Given the description of an element on the screen output the (x, y) to click on. 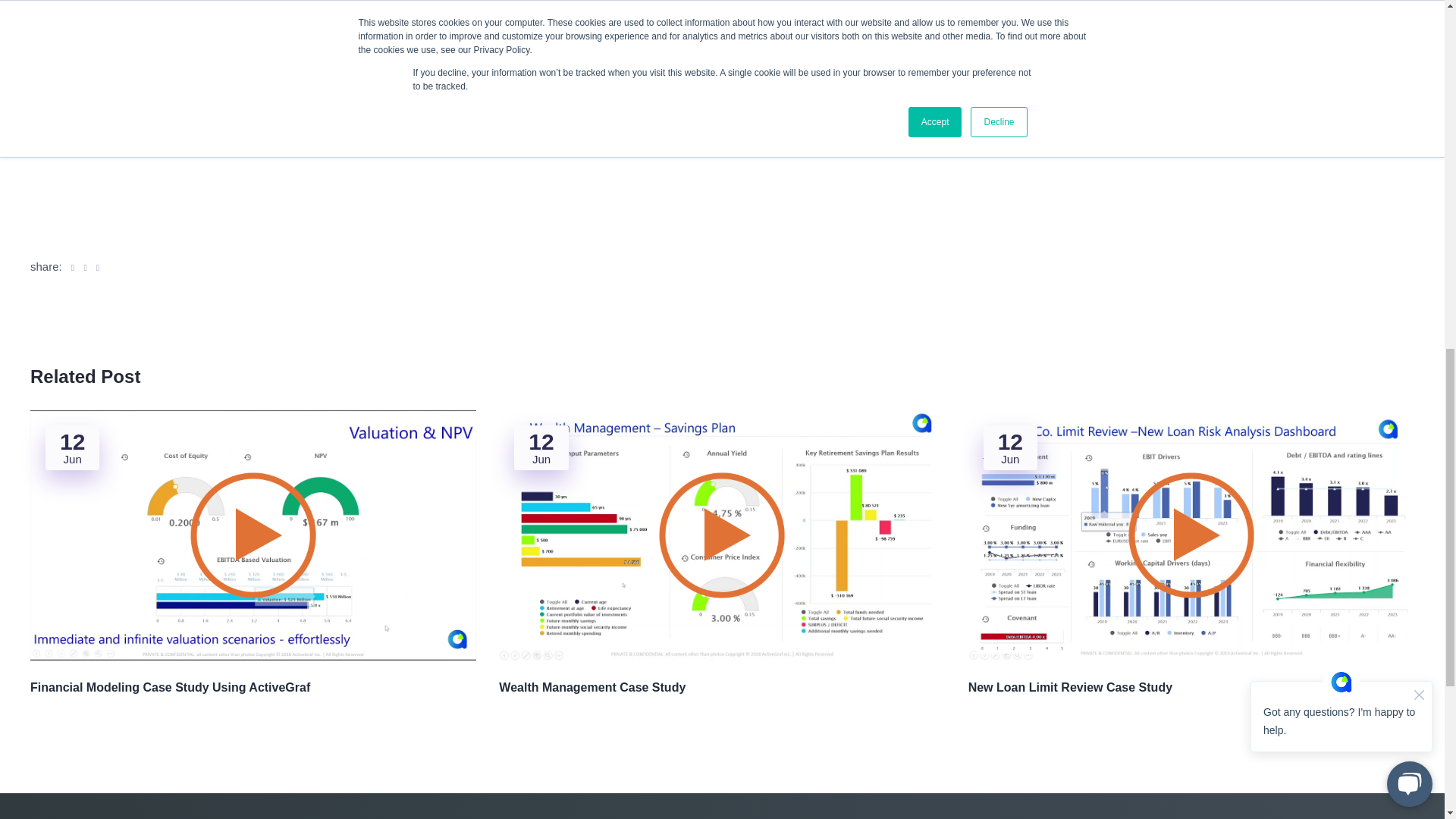
Financial Modeling Case Study Using ActiveGraf (253, 687)
Wealth Management Case Study (721, 687)
Wealth Management Case Study (721, 687)
Wealth Management Case Study (833, 598)
Financial Modeling Case Study Using ActiveGraf (253, 687)
New Loan Limit Review Case Study (1190, 687)
Financial Modeling Case Study Using ActiveGraf (364, 598)
New Loan Limit Review Case Study (1190, 687)
